Given the description of an element on the screen output the (x, y) to click on. 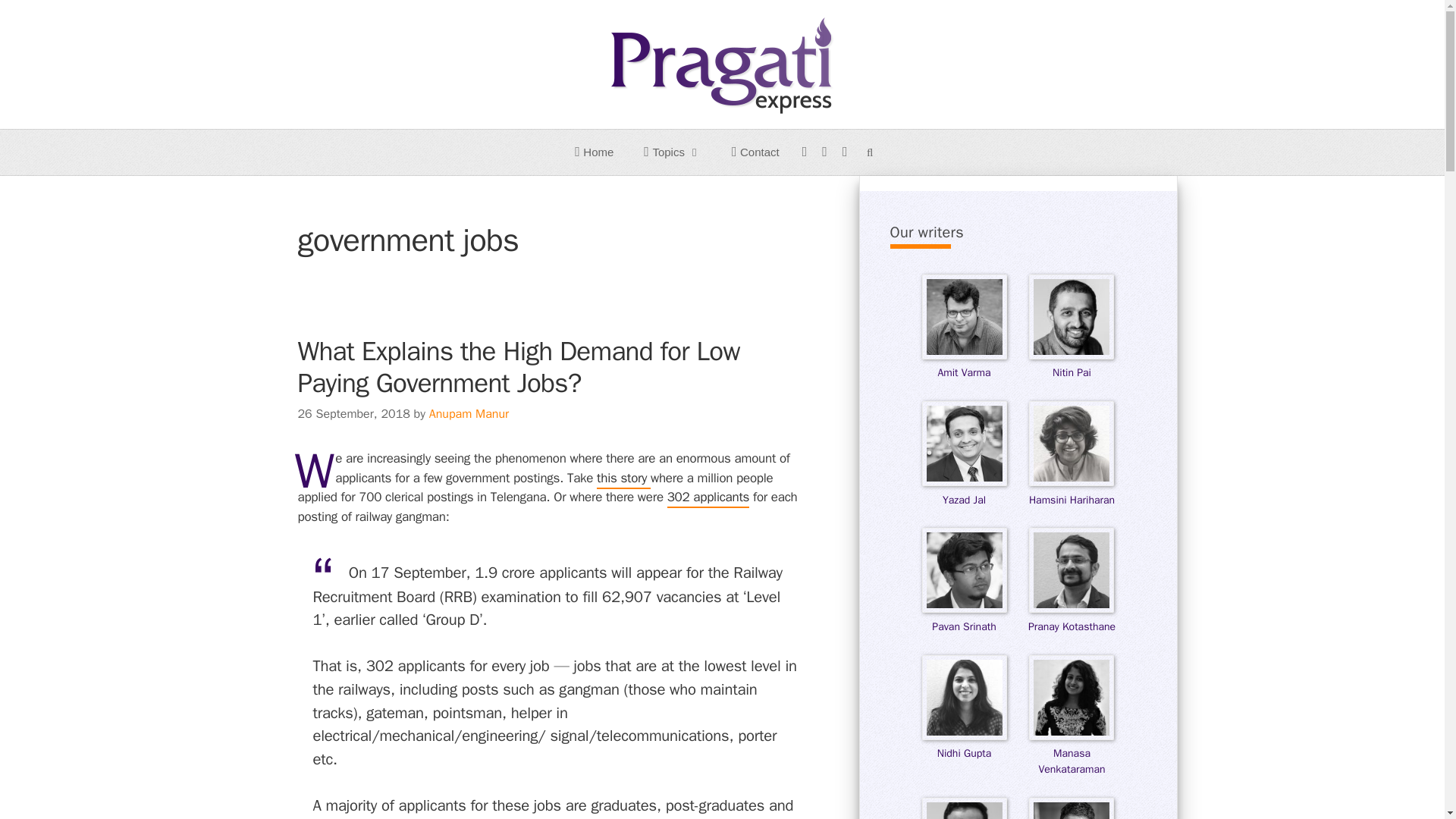
Amit Varma (963, 364)
Nitin Pai (1071, 364)
this story (623, 479)
Pavan Srinath (963, 617)
Nidhi Gupta (963, 745)
Contact (755, 152)
Home (593, 152)
Topics (672, 152)
Posts by Anupam Manur (468, 413)
